Given the description of an element on the screen output the (x, y) to click on. 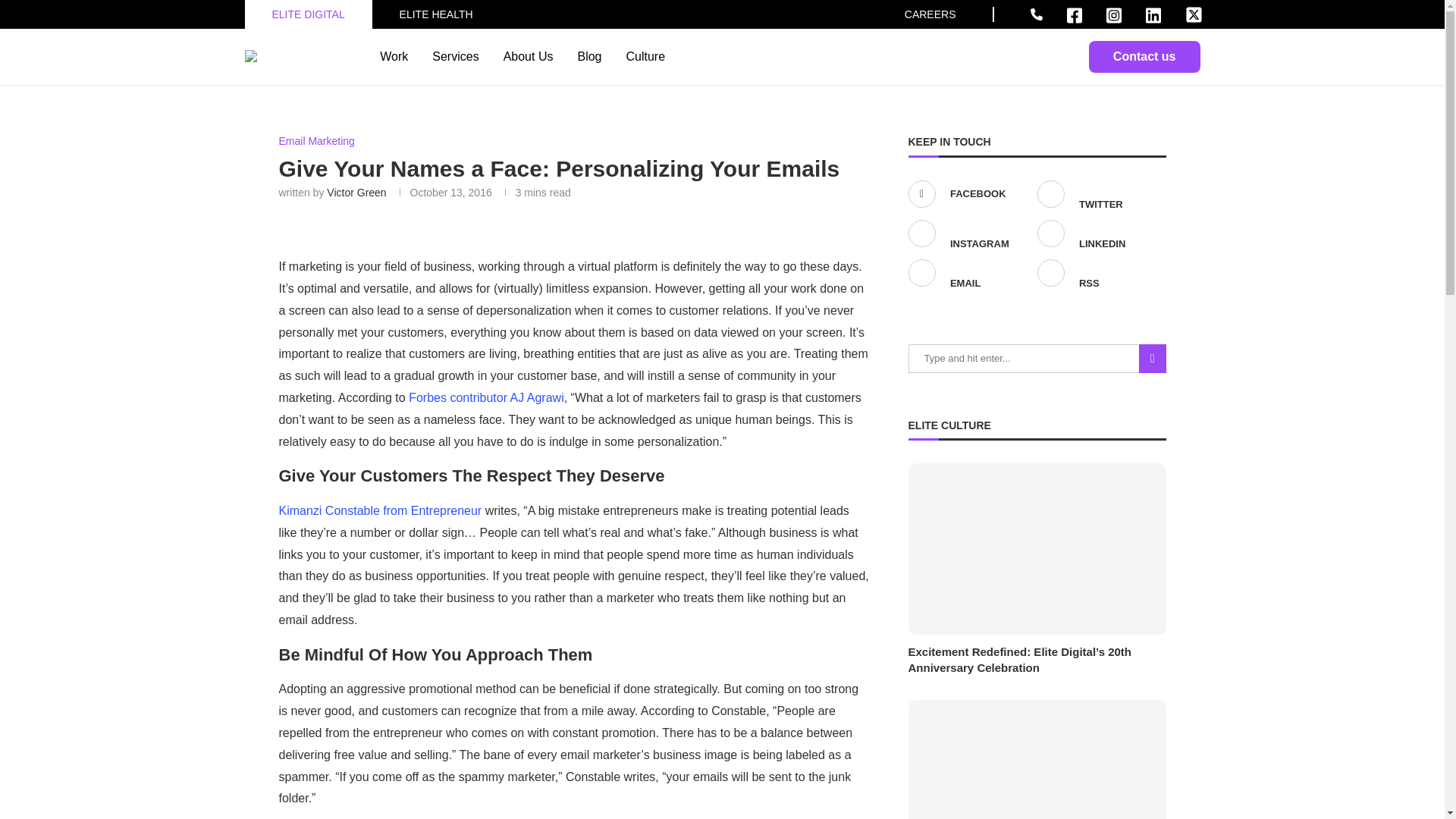
Contact us (1144, 56)
Culture (645, 56)
ELITE HEALTH (435, 14)
Blog (588, 56)
About Us (528, 56)
Services (455, 56)
Forbes contributor AJ Agrawi (486, 397)
ELITE DIGITAL (306, 14)
Kimanzi Constable from Entrepreneur (381, 510)
Email Marketing (317, 141)
